Given the description of an element on the screen output the (x, y) to click on. 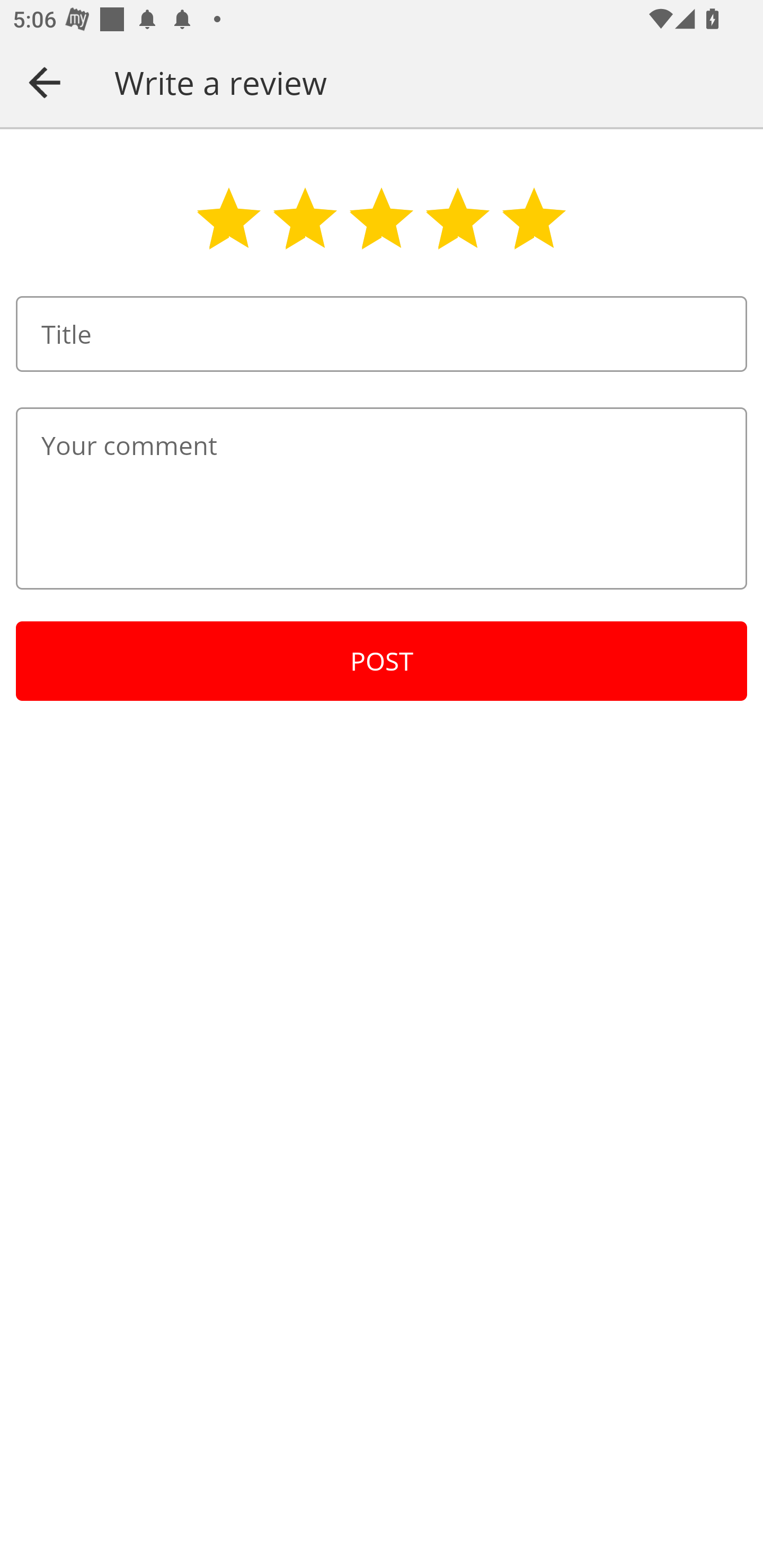
Navigate up (44, 82)
Title (381, 333)
Your comment (381, 498)
POST (381, 660)
